Given the description of an element on the screen output the (x, y) to click on. 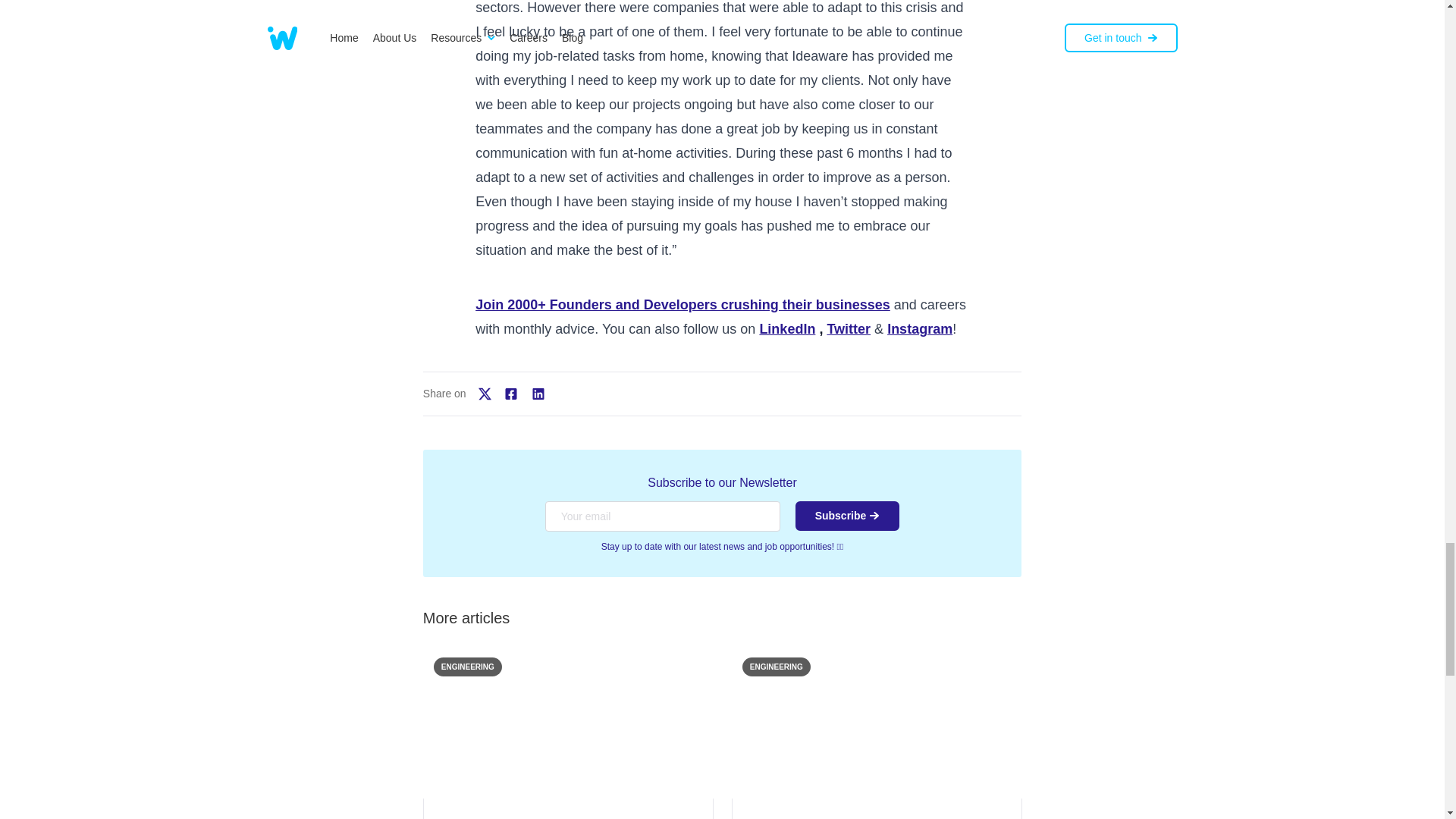
LinkedIn (786, 328)
Instagram (919, 328)
Twitter (848, 328)
Subscribe (846, 515)
